Given the description of an element on the screen output the (x, y) to click on. 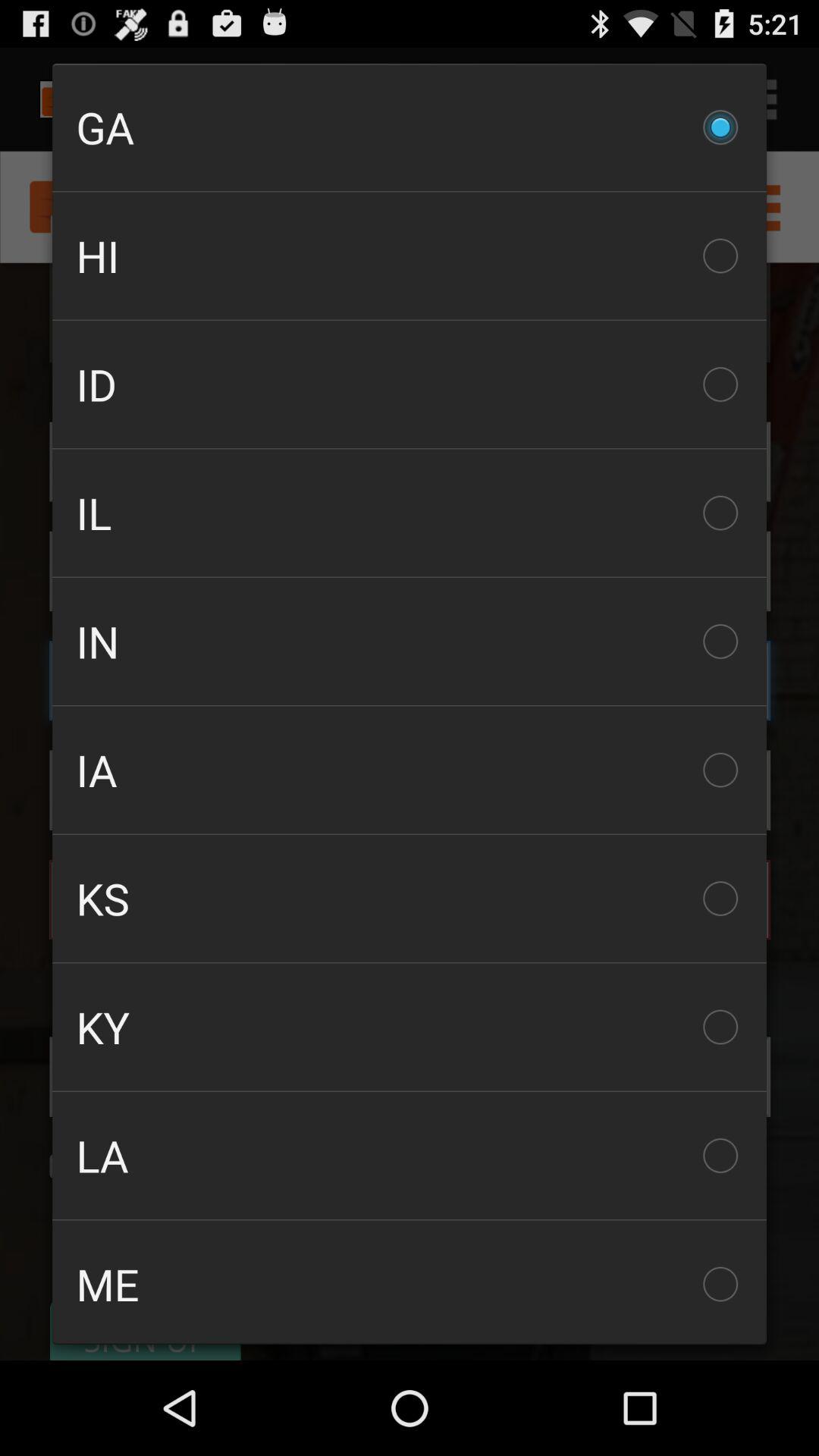
click the hi (409, 255)
